Given the description of an element on the screen output the (x, y) to click on. 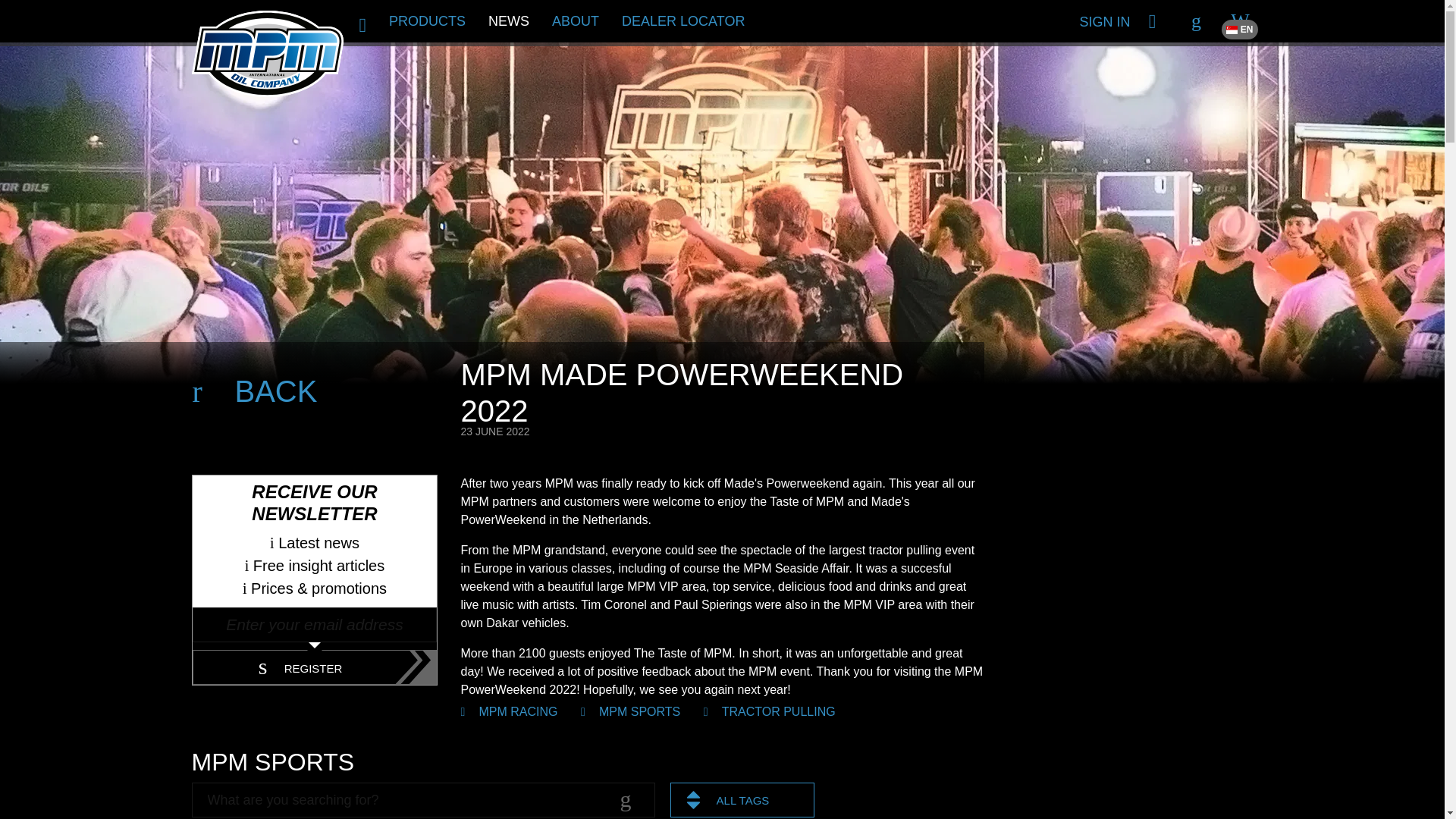
SIGN IN (1151, 21)
NEWS (508, 21)
 EN (1239, 21)
ABOUT (575, 21)
All tags (757, 799)
PRODUCTS (427, 21)
DEALER LOCATOR (682, 21)
